Given the description of an element on the screen output the (x, y) to click on. 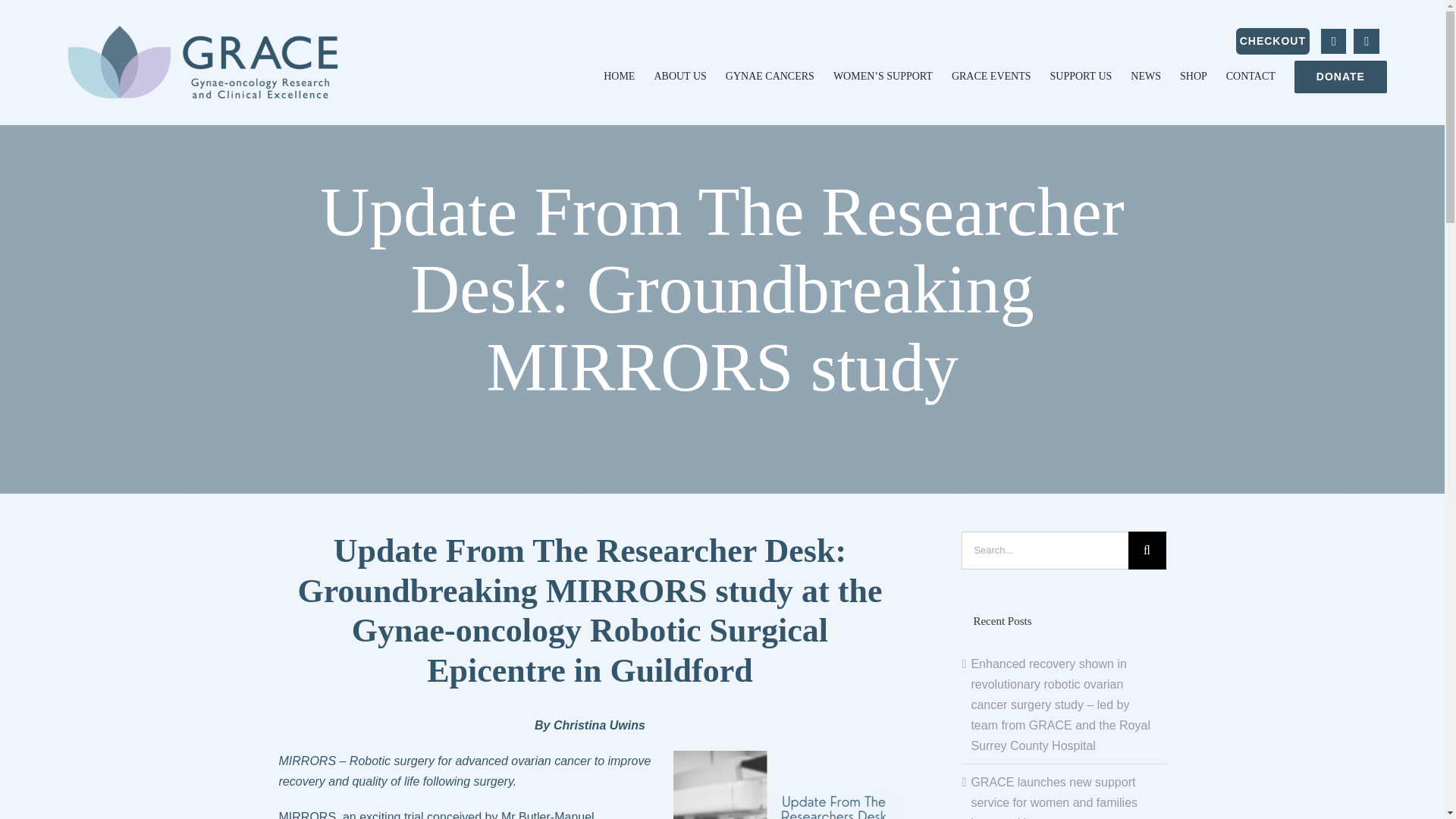
SUPPORT US (1080, 76)
SHOP (1193, 76)
GRACE EVENTS (991, 76)
DONATE (1340, 76)
ABOUT US (679, 76)
GYNAE CANCERS (769, 76)
CONTACT (1250, 76)
NEWS (1145, 76)
HOME (619, 76)
CHECKOUT (1272, 40)
